Given the description of an element on the screen output the (x, y) to click on. 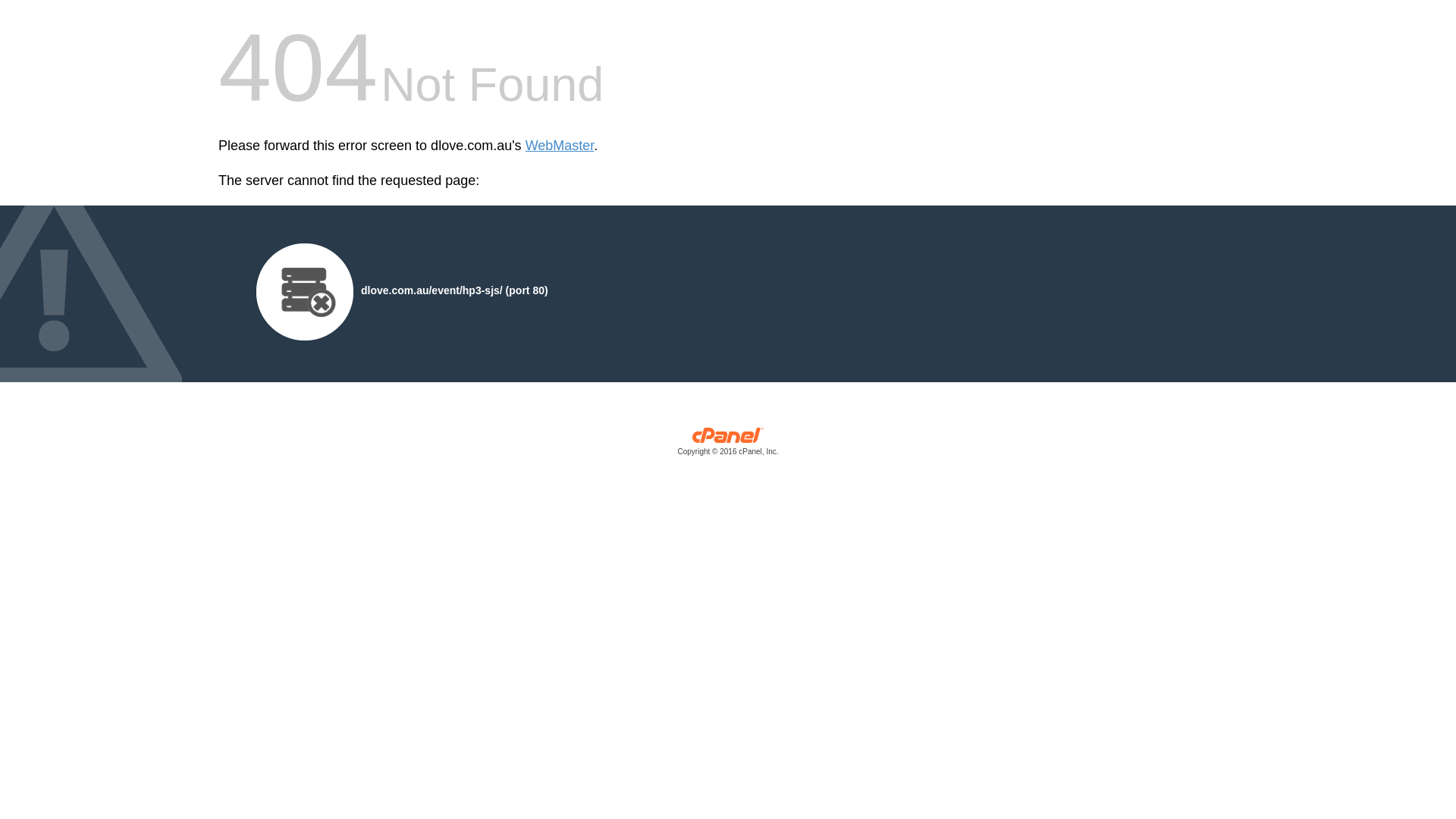
WebMaster Element type: text (559, 145)
